Given the description of an element on the screen output the (x, y) to click on. 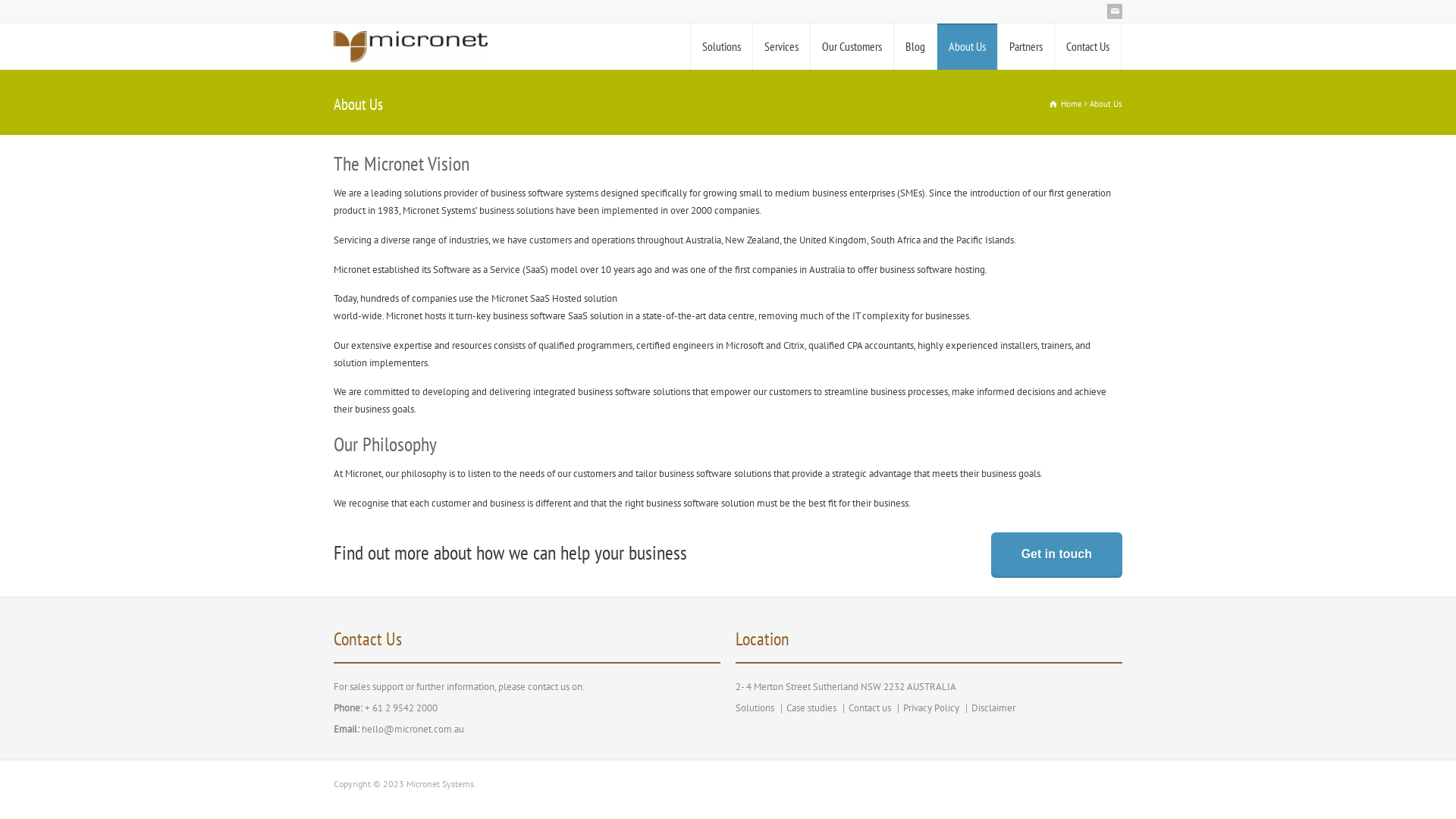
Micronet Systems Element type: hover (410, 46)
Home Element type: text (1065, 103)
Disclaimer Element type: text (993, 707)
Contact Us Element type: text (1087, 46)
Contact us Element type: text (869, 707)
Our Customers Element type: text (851, 46)
Email Element type: hover (1114, 10)
Case studies Element type: text (811, 707)
About Us Element type: text (967, 46)
hello@micronet.com.au Element type: text (412, 728)
Partners Element type: text (1025, 46)
Get in touch Element type: text (1056, 554)
Solutions Element type: text (721, 46)
Privacy Policy Element type: text (931, 707)
Services Element type: text (781, 46)
Blog Element type: text (915, 46)
Solutions Element type: text (754, 707)
